Given the description of an element on the screen output the (x, y) to click on. 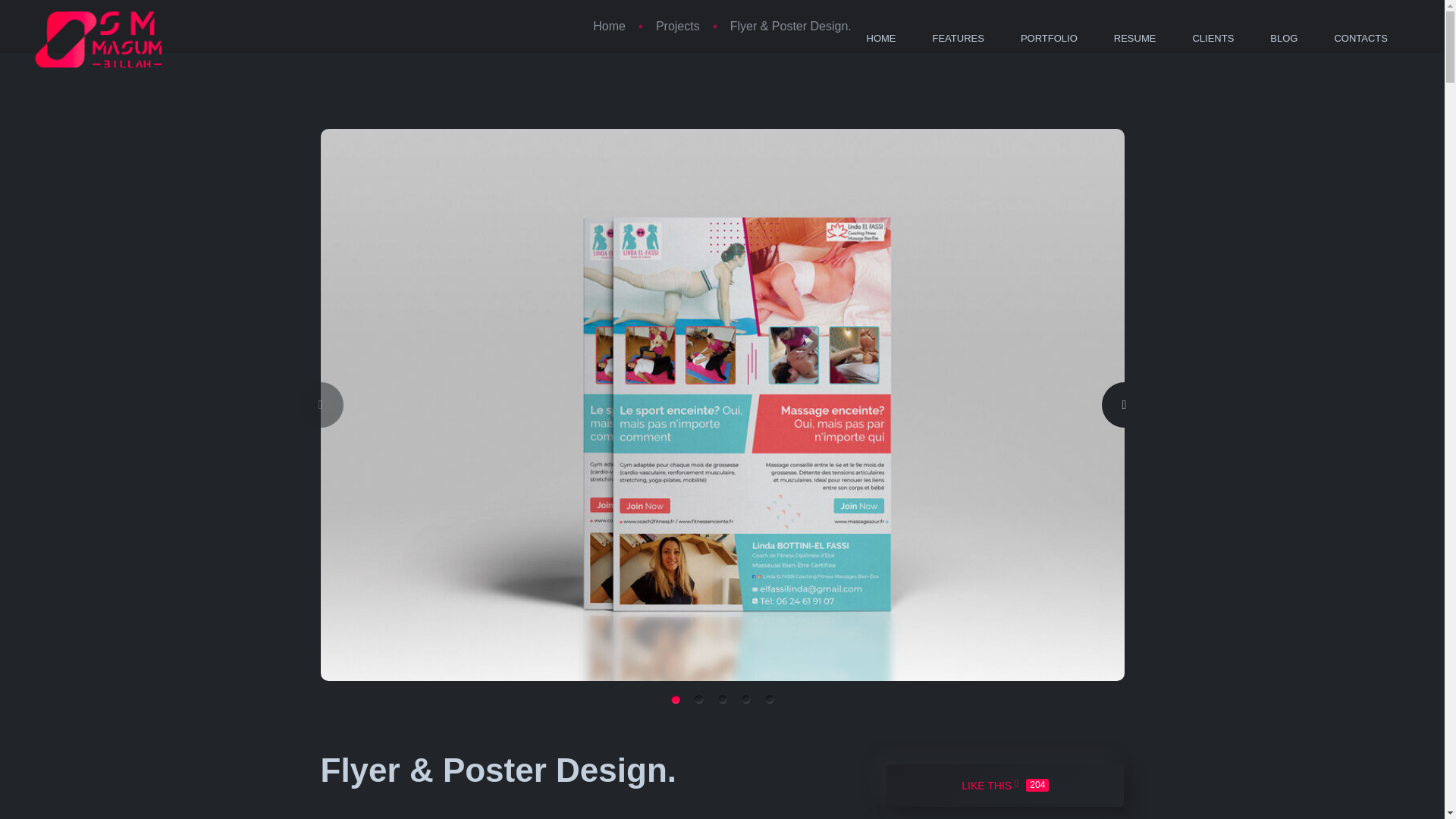
Projects (678, 25)
CONTACTS (1360, 38)
BLOG (1283, 38)
2 (698, 699)
HOME (880, 38)
CLIENTS (1213, 38)
1 (675, 699)
Home (609, 25)
4 (745, 699)
3 (1005, 785)
5 (721, 699)
PORTFOLIO (769, 699)
Home (1048, 38)
Projects (609, 25)
